Given the description of an element on the screen output the (x, y) to click on. 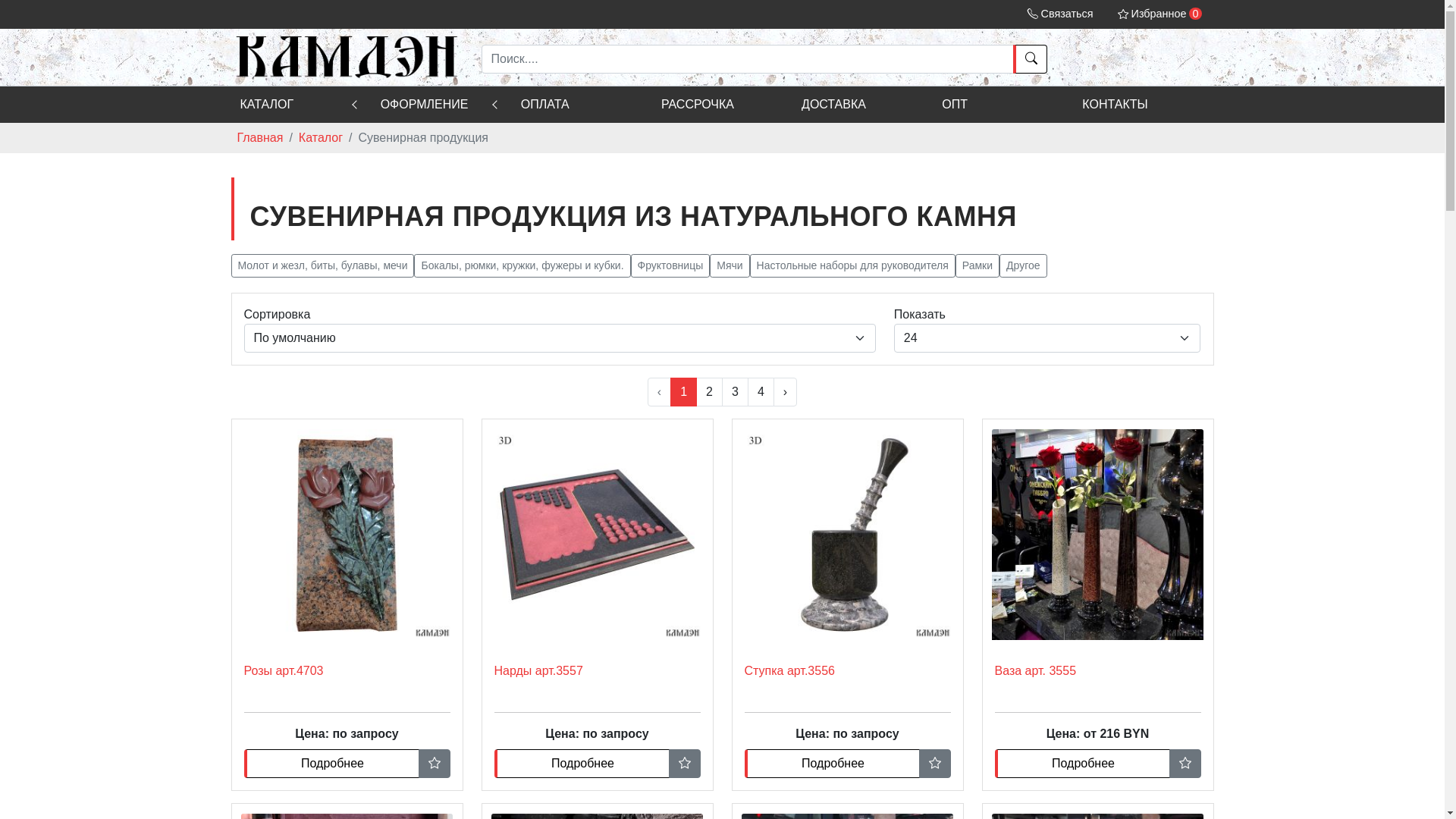
4 Element type: text (760, 391)
3 Element type: text (734, 391)
2 Element type: text (709, 391)
